Given the description of an element on the screen output the (x, y) to click on. 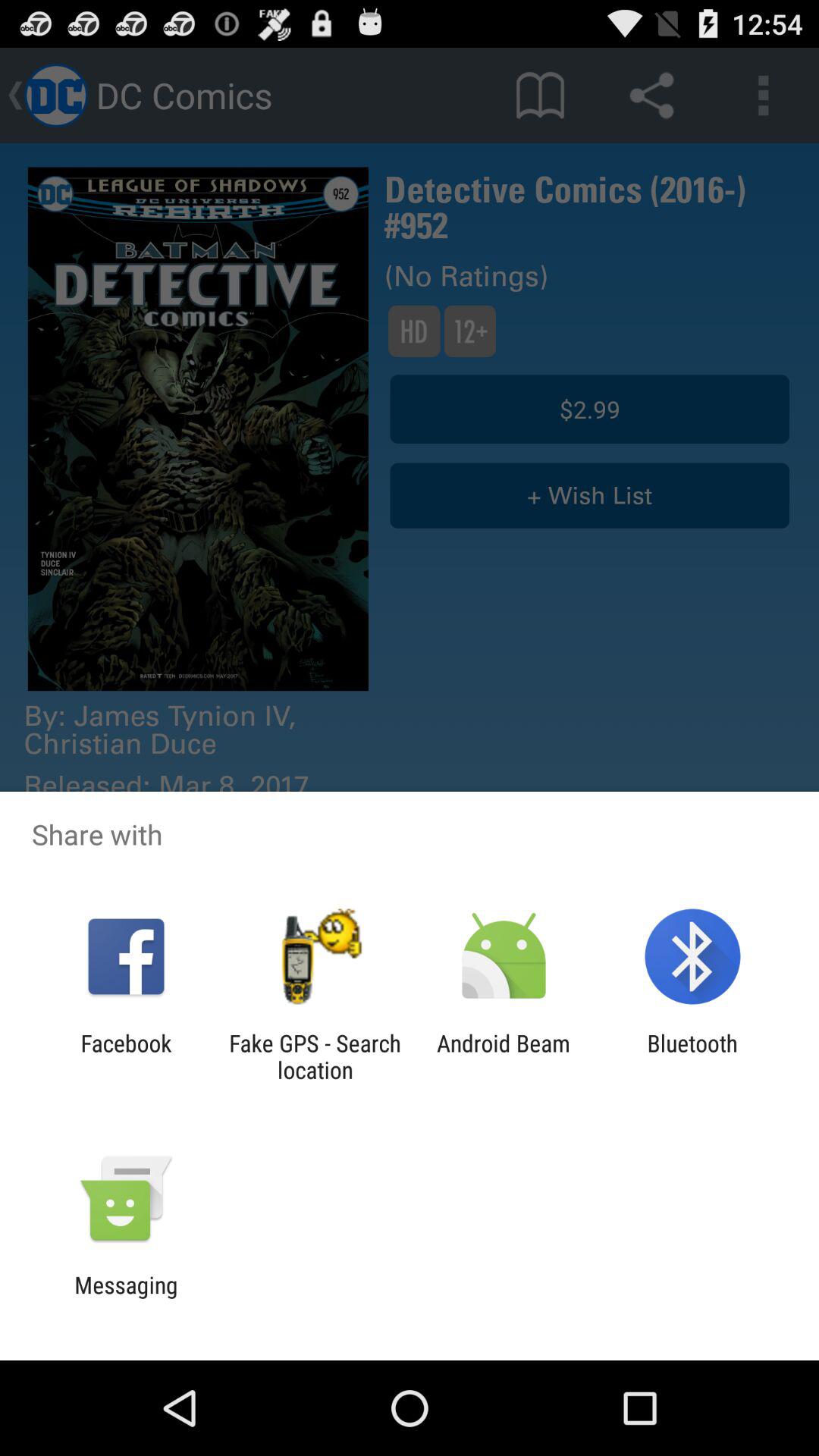
select item next to facebook (314, 1056)
